Given the description of an element on the screen output the (x, y) to click on. 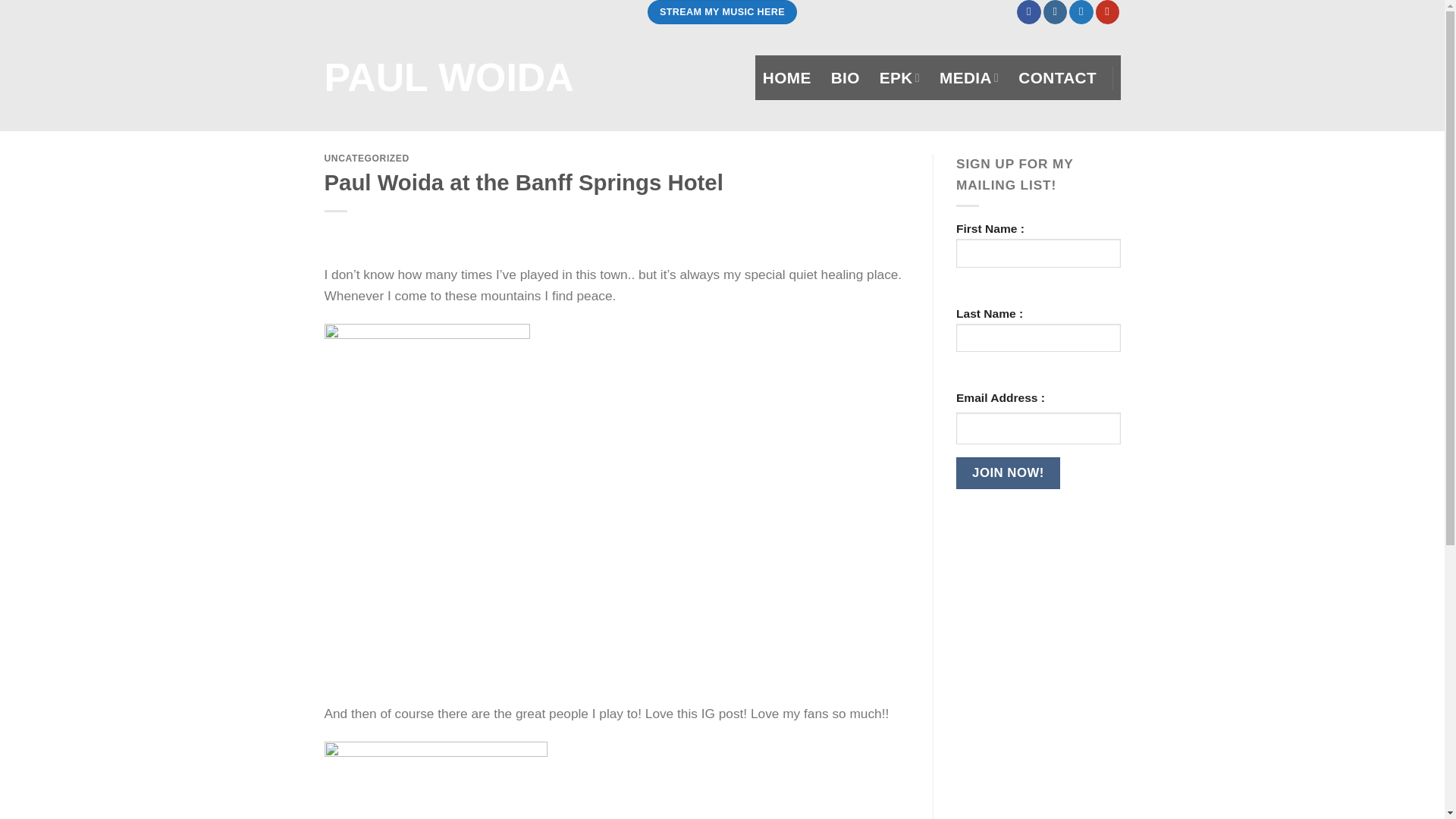
Paul Woida - Join The Journey (469, 77)
STREAM MY MUSIC HERE (721, 12)
HOME (786, 77)
BIO (845, 77)
Join now! (1007, 472)
CONTACT (1056, 77)
Join now! (1007, 472)
PAUL WOIDA (469, 77)
EPK (899, 77)
MEDIA (968, 77)
